Given the description of an element on the screen output the (x, y) to click on. 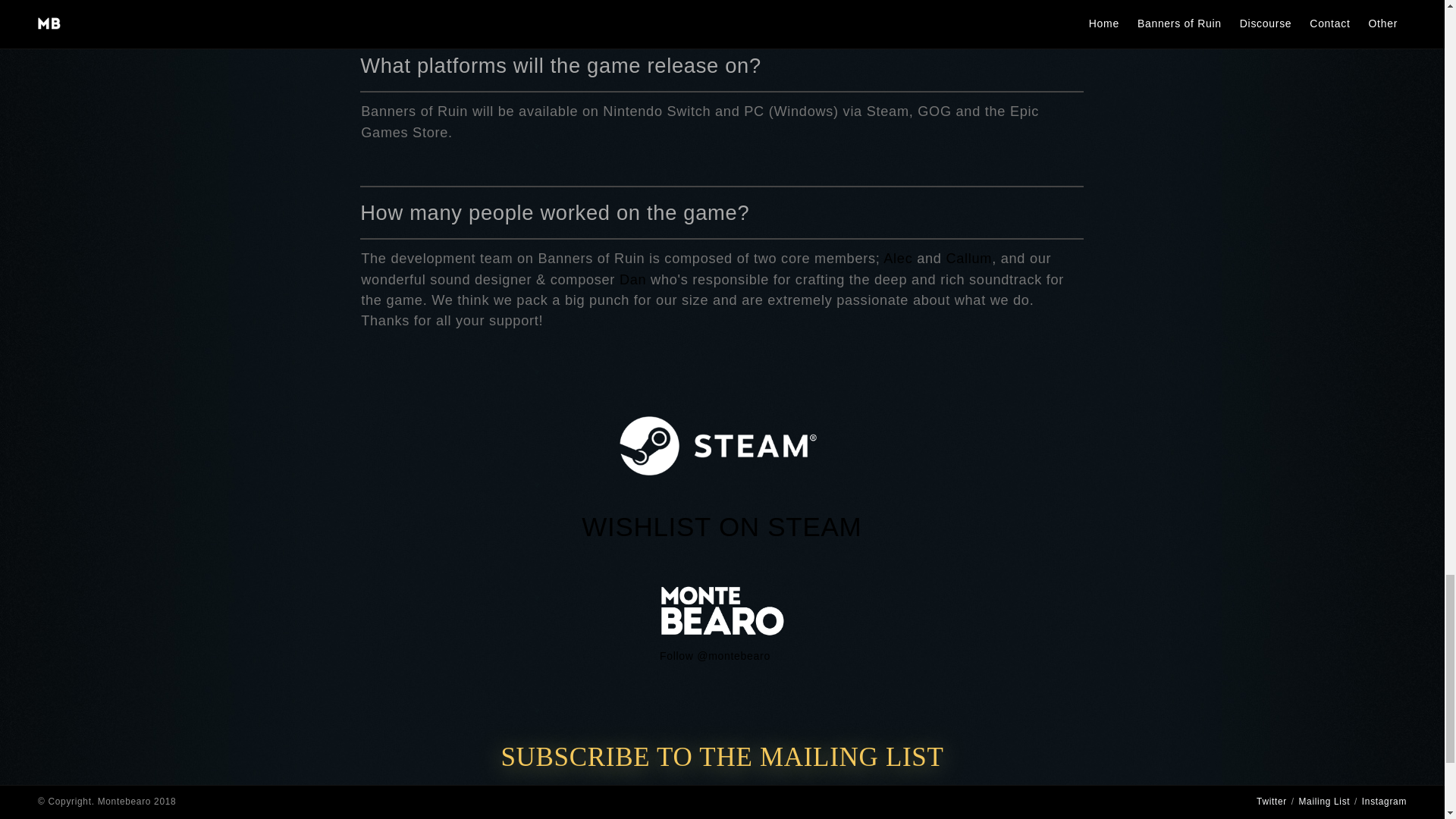
SUBSCRIBE TO THE MAILING LIST (721, 757)
Callum (967, 258)
Alec (897, 258)
Dan (633, 279)
WISHLIST ON STEAM (720, 526)
